Given the description of an element on the screen output the (x, y) to click on. 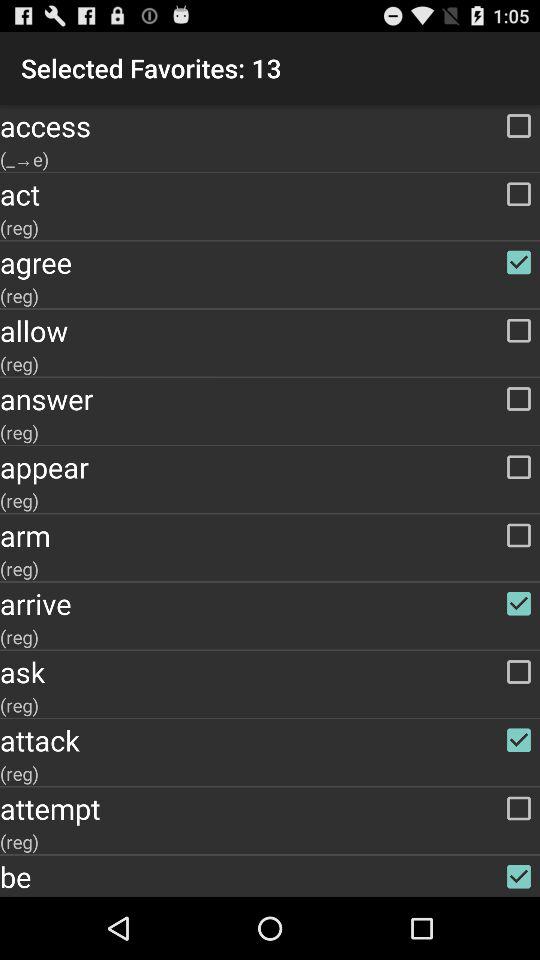
choose the app below the (reg) (270, 262)
